Given the description of an element on the screen output the (x, y) to click on. 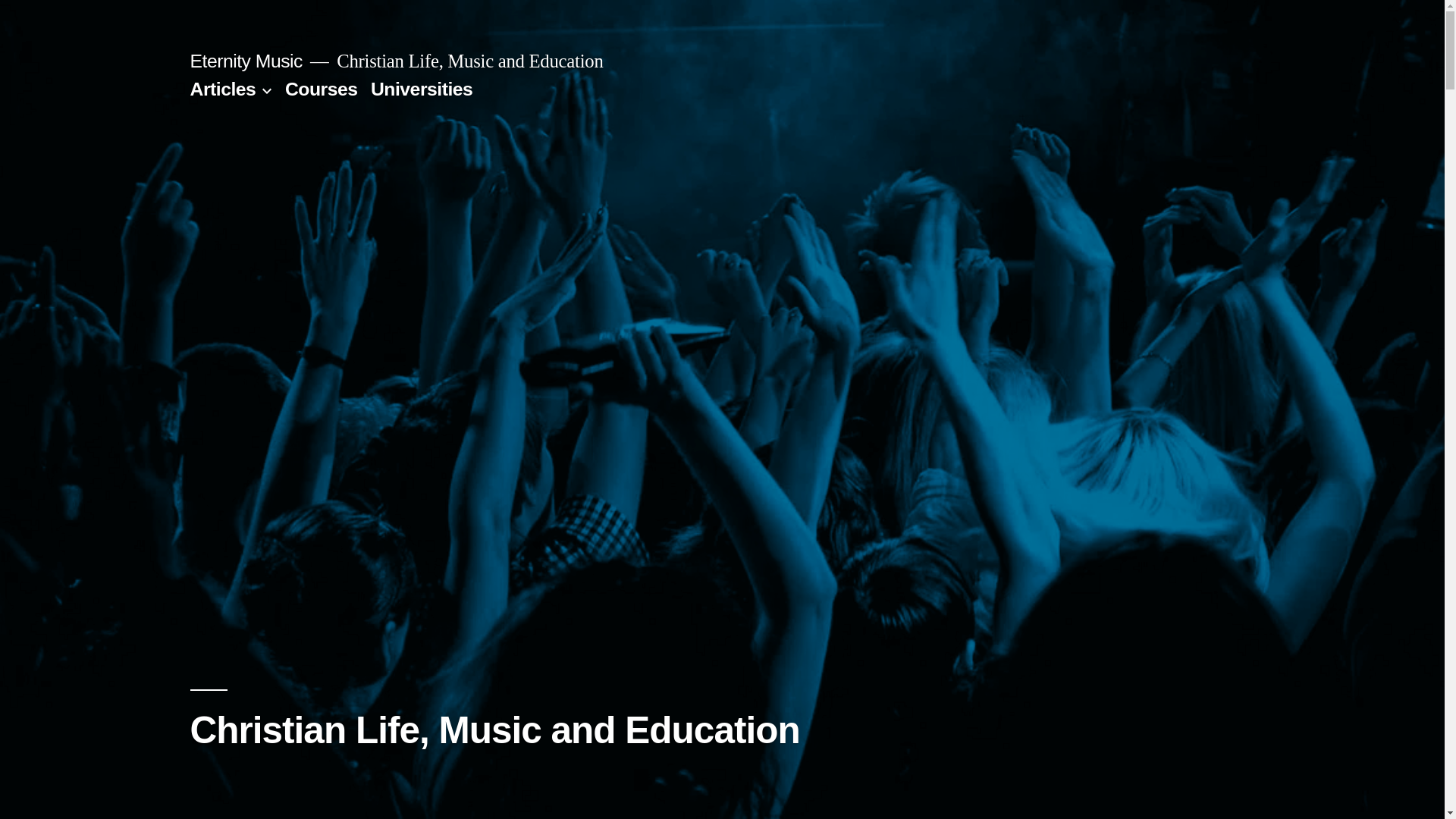
Eternity Music Element type: text (245, 60)
Courses Element type: text (321, 88)
Articles Element type: text (222, 88)
Universities Element type: text (421, 88)
